Given the description of an element on the screen output the (x, y) to click on. 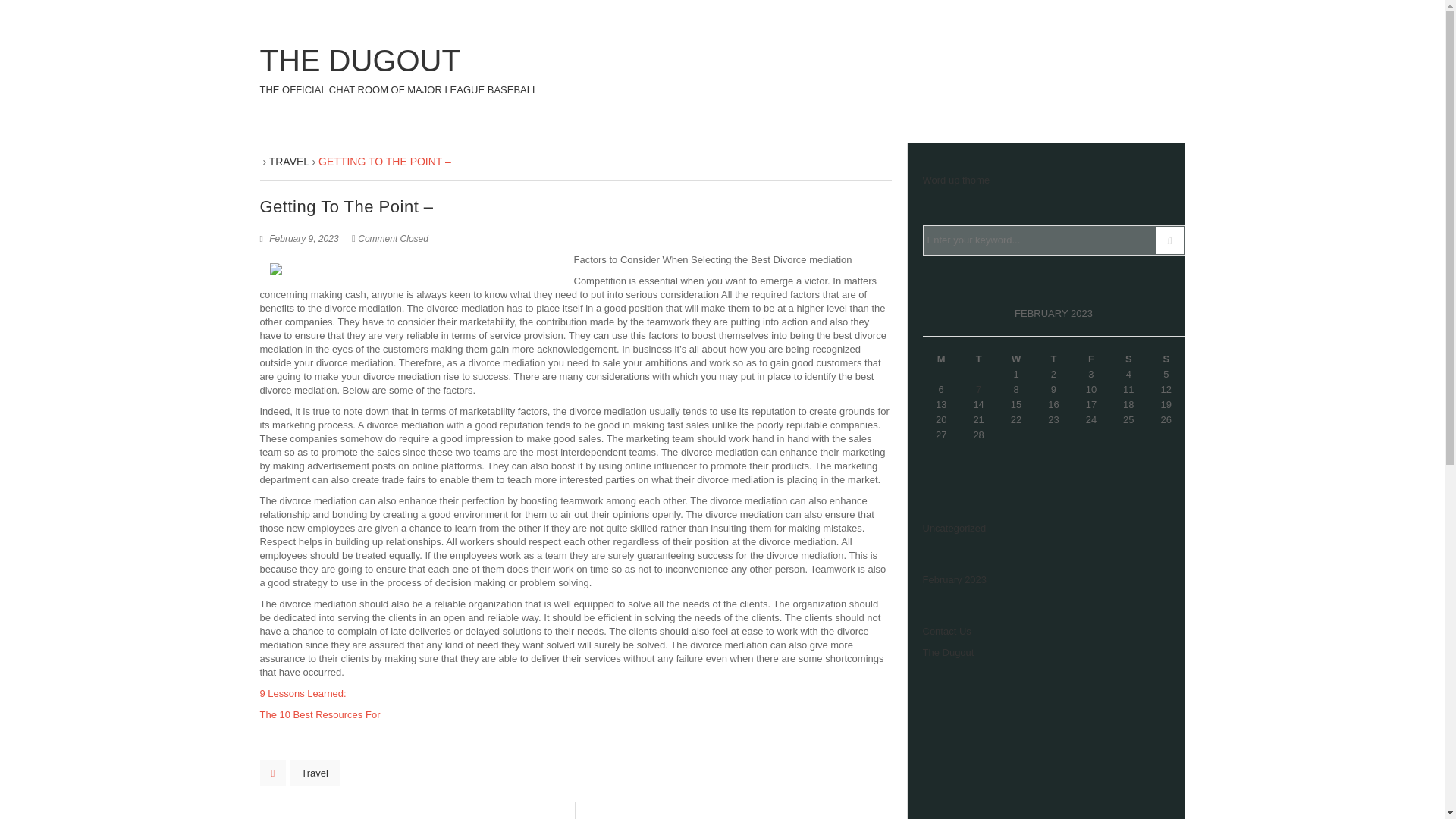
Tuesday (398, 71)
The Dugout (978, 359)
What Do You Know About (947, 652)
Word up thome (859, 818)
The Dugout (955, 179)
February 2023 (398, 71)
Friday (954, 579)
Uncategorized (1090, 359)
